Given the description of an element on the screen output the (x, y) to click on. 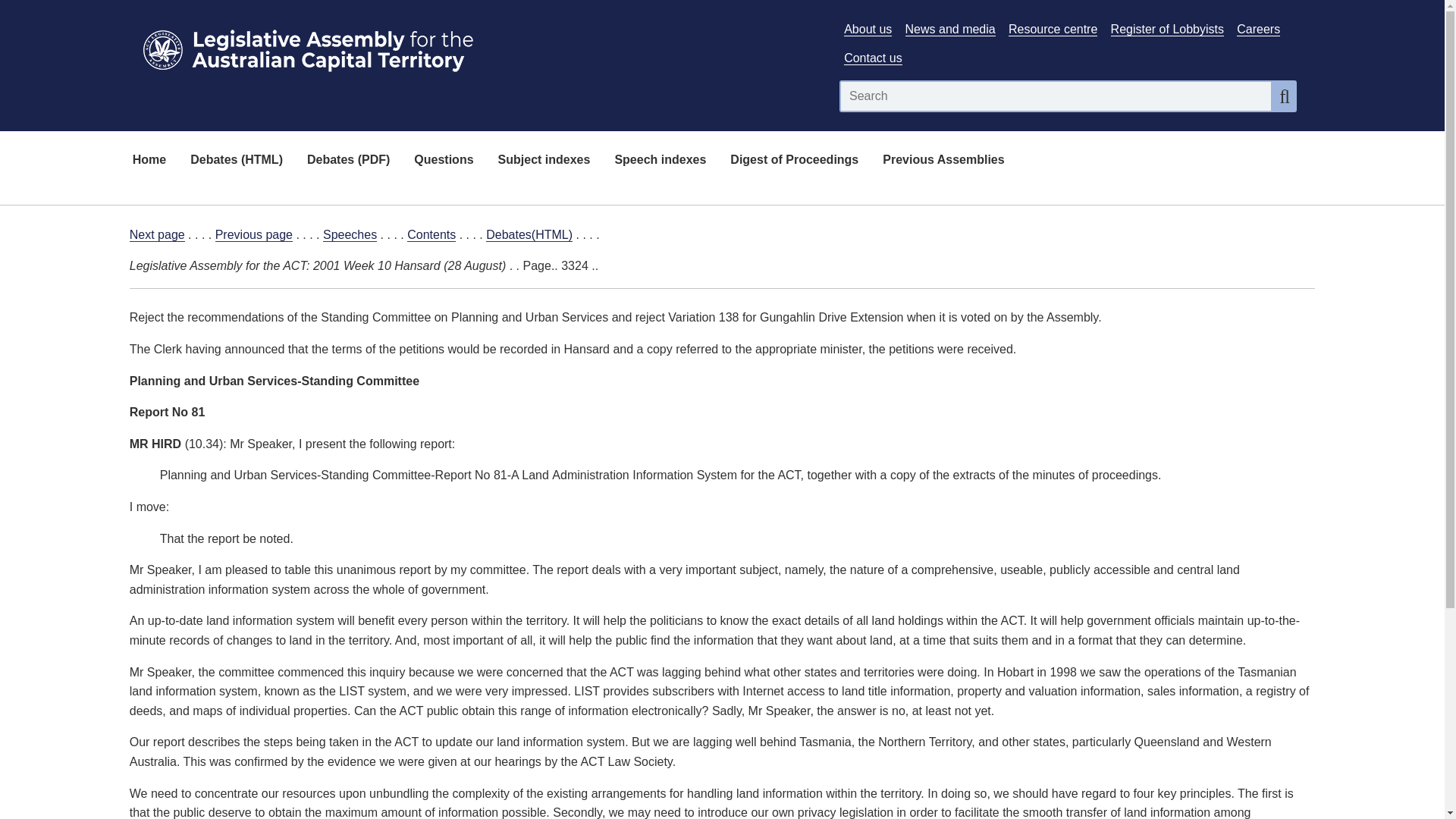
Link to Careers (1257, 29)
Contents (431, 234)
Previous page (253, 234)
Link to Resource centre (1053, 29)
Link to Register of Lobbyists (1167, 29)
Next page (156, 234)
Careers (1257, 29)
Home (148, 160)
Speech indexes (659, 160)
Digest of Proceedings (793, 160)
